Given the description of an element on the screen output the (x, y) to click on. 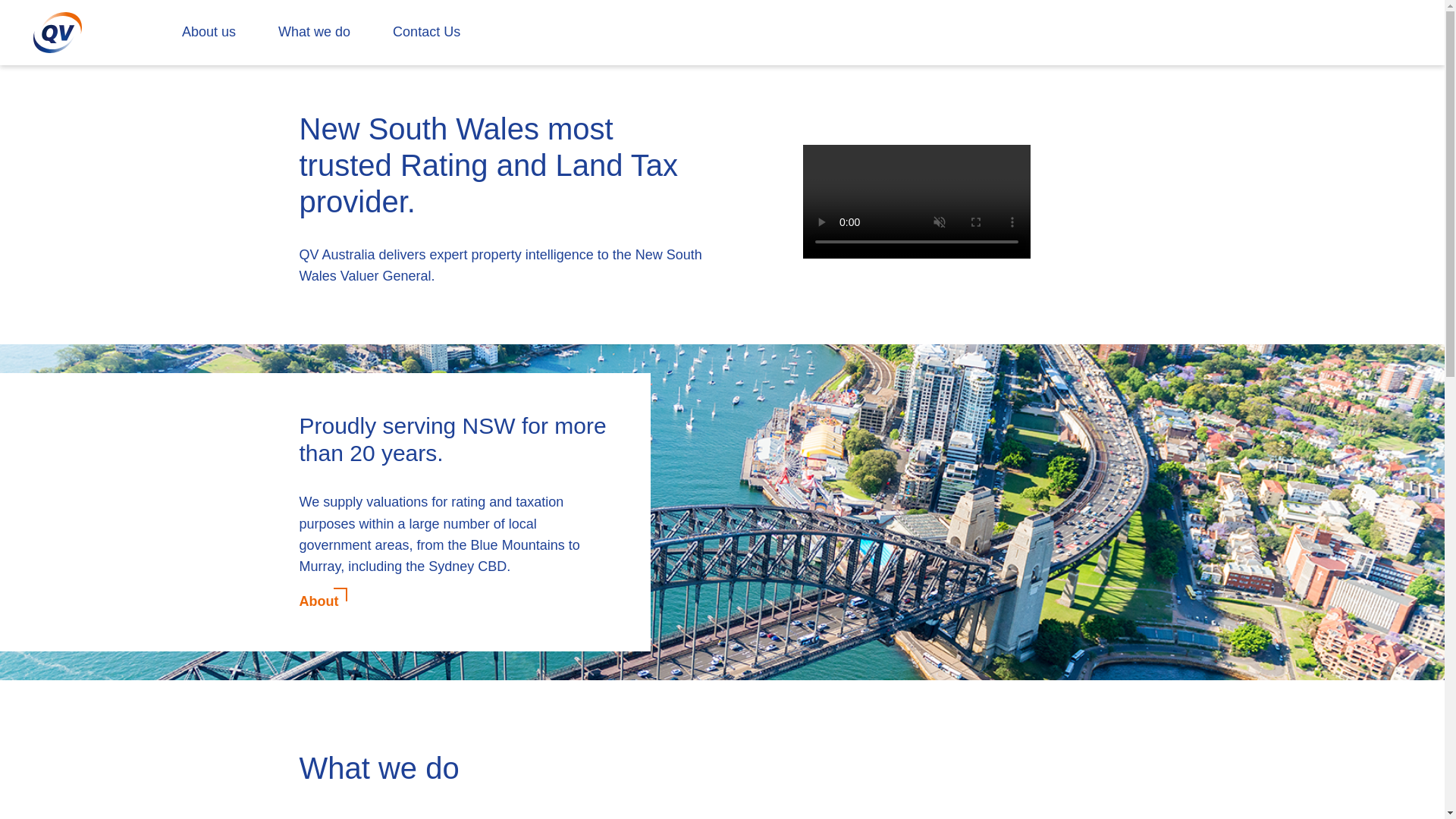
QV Logo (57, 31)
What we do (314, 32)
About (320, 600)
QV Logo (57, 32)
Contact Us (426, 32)
About us (208, 32)
